Given the description of an element on the screen output the (x, y) to click on. 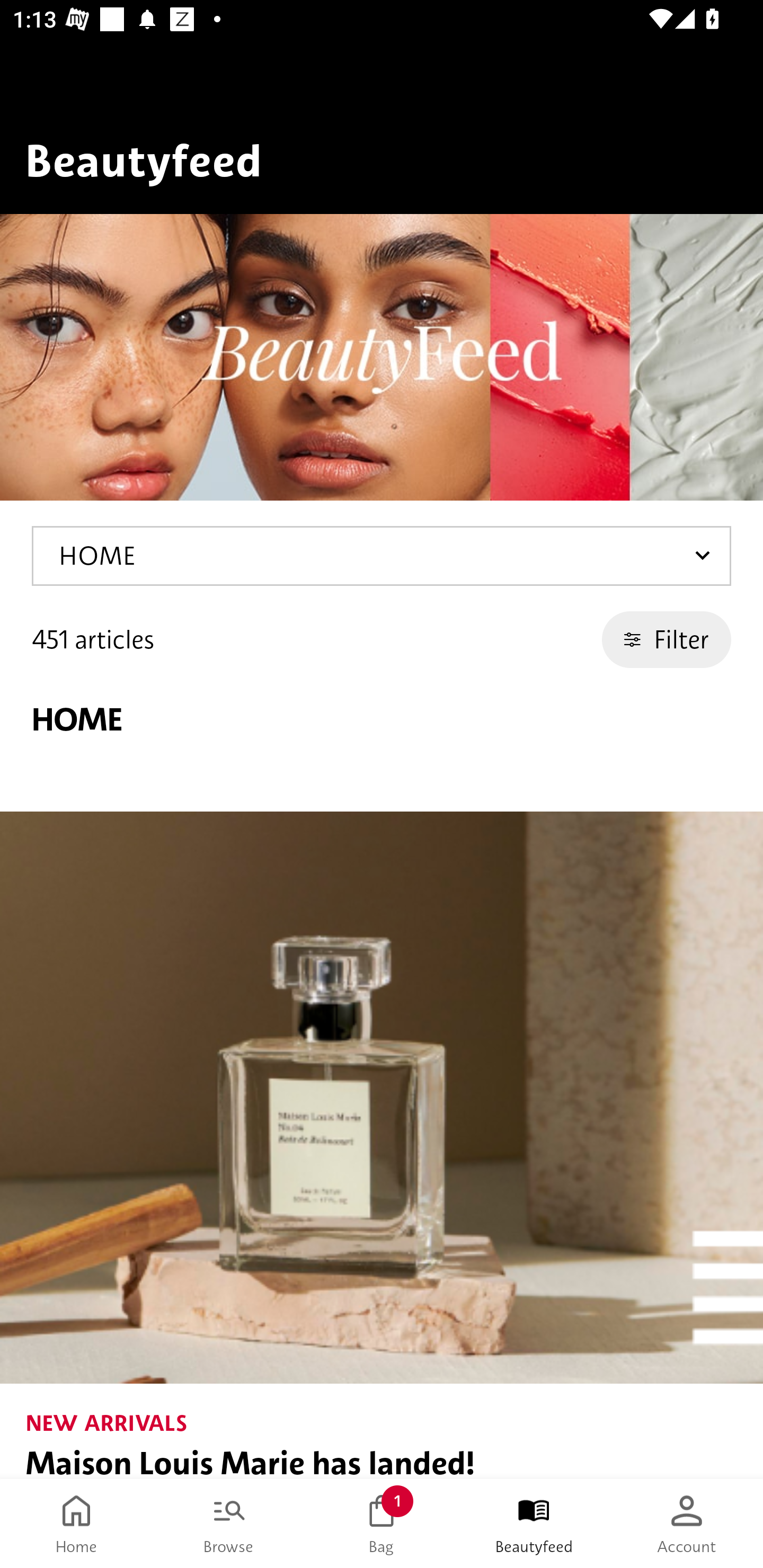
HOME (381, 555)
Filter (666, 639)
NEW ARRIVALS Maison Louis Marie has landed! (381, 1145)
Home (76, 1523)
Browse (228, 1523)
Bag 1 Bag (381, 1523)
Account (686, 1523)
